Given the description of an element on the screen output the (x, y) to click on. 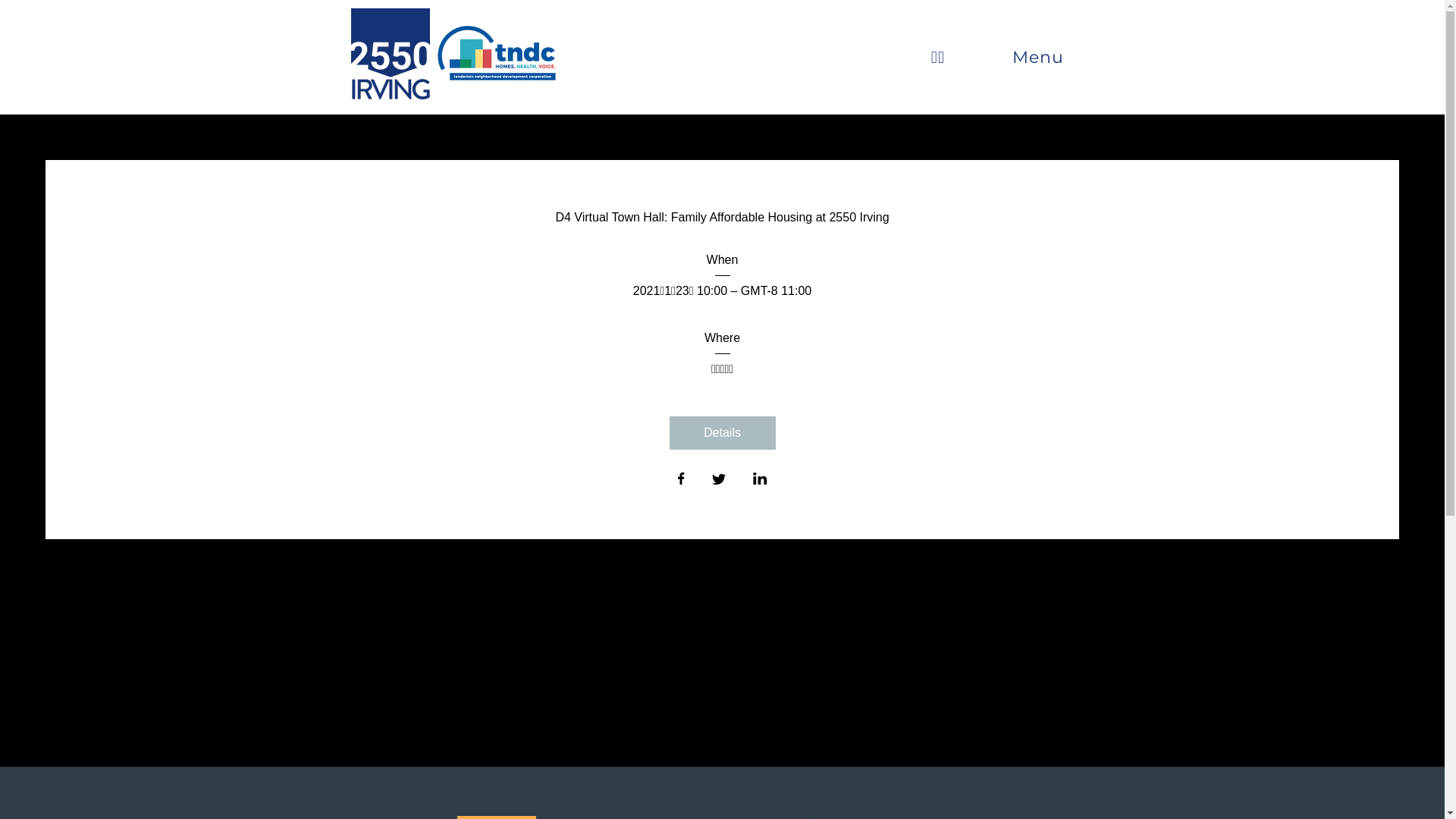
Menu Element type: text (1037, 57)
Details Element type: text (721, 432)
